Given the description of an element on the screen output the (x, y) to click on. 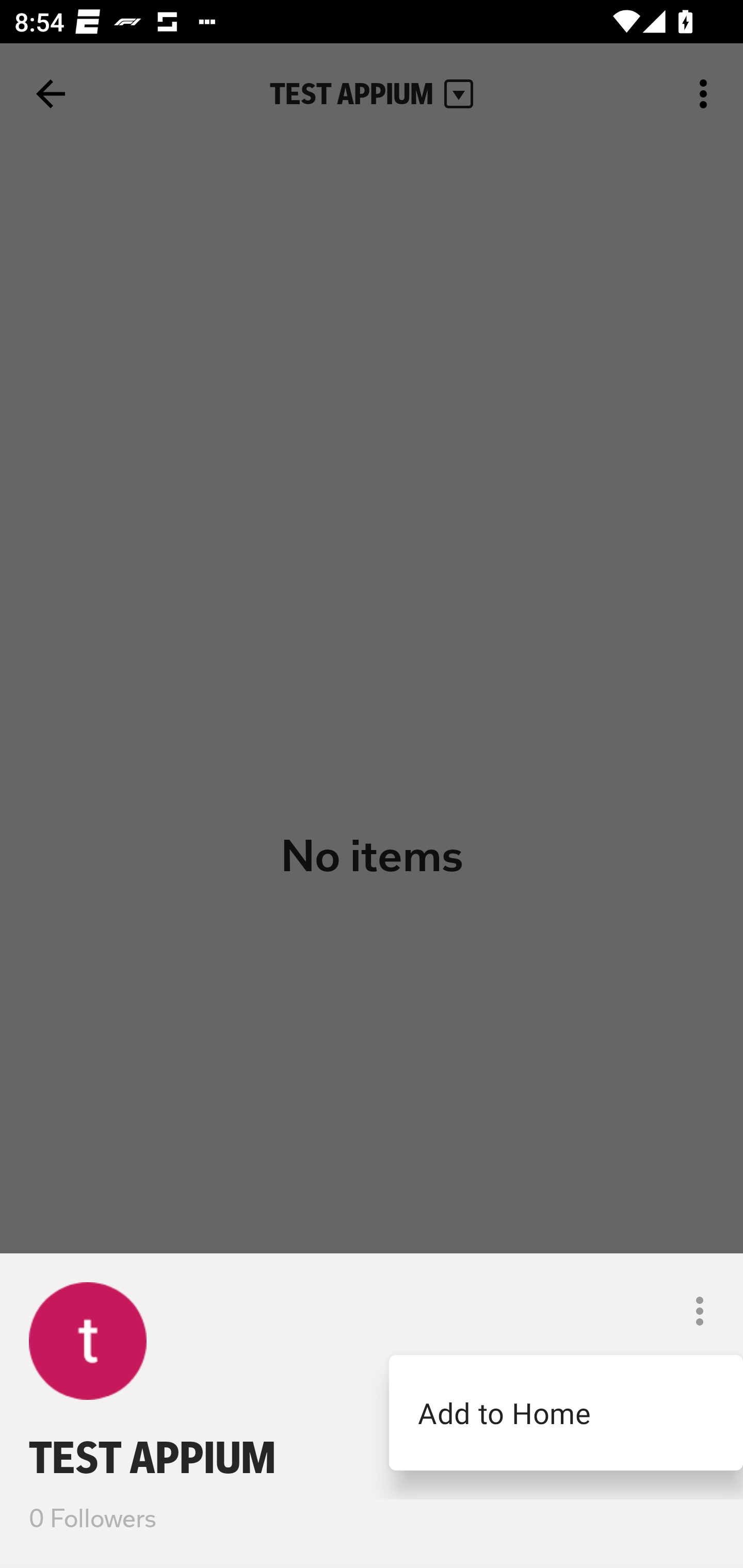
Add to Home (566, 1412)
